Given the description of an element on the screen output the (x, y) to click on. 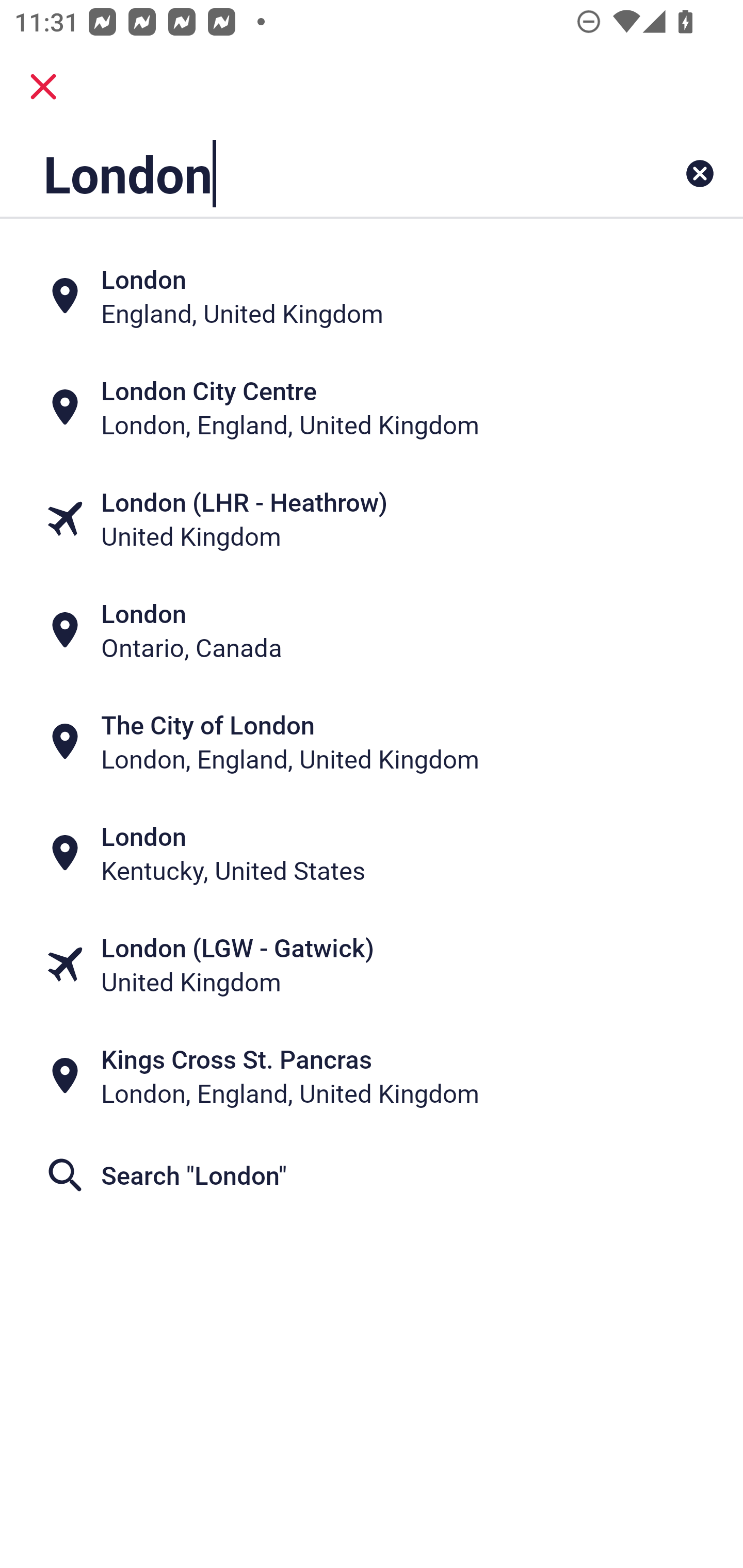
close. (43, 86)
Clear (699, 173)
London (306, 173)
London England, United Kingdom (371, 295)
London City Centre London, England, United Kingdom (371, 406)
London (LHR - Heathrow) United Kingdom (371, 517)
London Ontario, Canada (371, 629)
The City of London London, England, United Kingdom (371, 742)
London Kentucky, United States (371, 853)
London (LGW - Gatwick) United Kingdom (371, 964)
Search "London" (371, 1175)
